Given the description of an element on the screen output the (x, y) to click on. 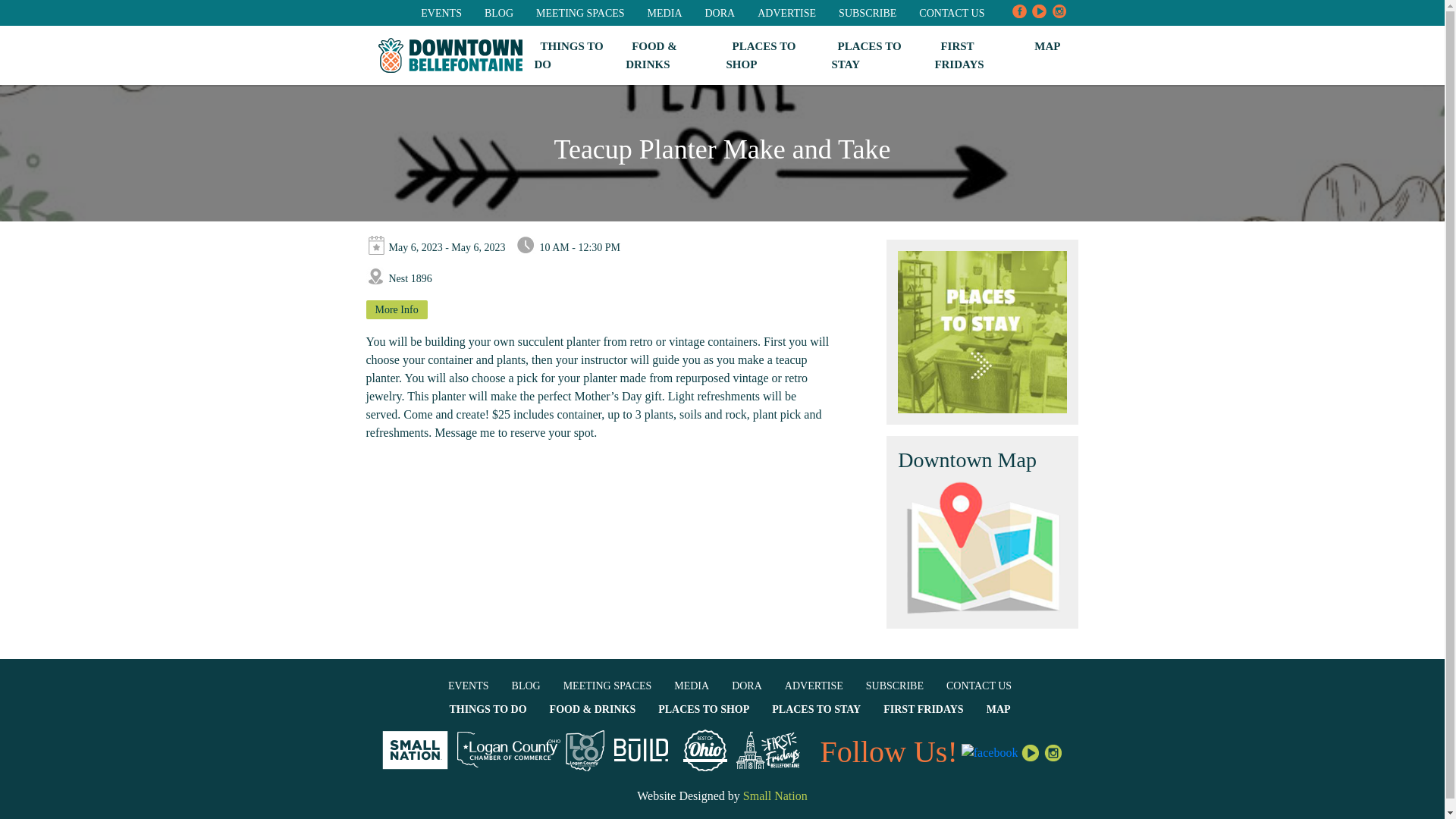
FIRST FRIDAYS (962, 55)
BLOG (498, 12)
PLACES TO STAY (866, 55)
BLOG (526, 685)
SUBSCRIBE (867, 12)
EVENTS (468, 685)
MEDIA (664, 12)
MEETING SPACES (579, 12)
PLACES TO SHOP (759, 55)
MAP (1046, 46)
CONTACT US (951, 12)
DORA (719, 12)
Downtown Bellefontaine Home Page (449, 55)
EVENTS (440, 12)
THINGS TO DO (568, 55)
